Given the description of an element on the screen output the (x, y) to click on. 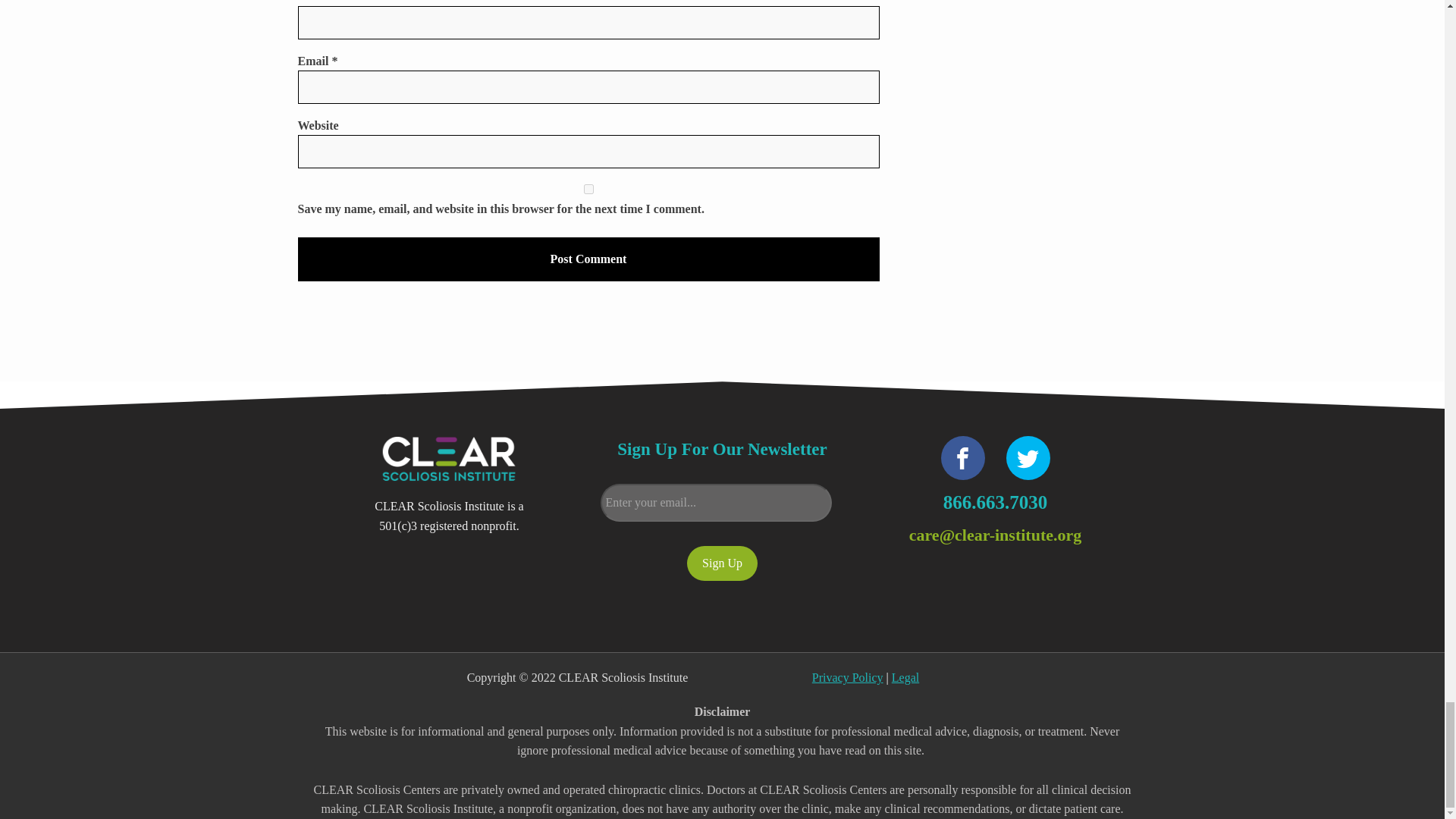
yes (588, 189)
Sign Up (722, 563)
Post Comment (588, 259)
